Given the description of an element on the screen output the (x, y) to click on. 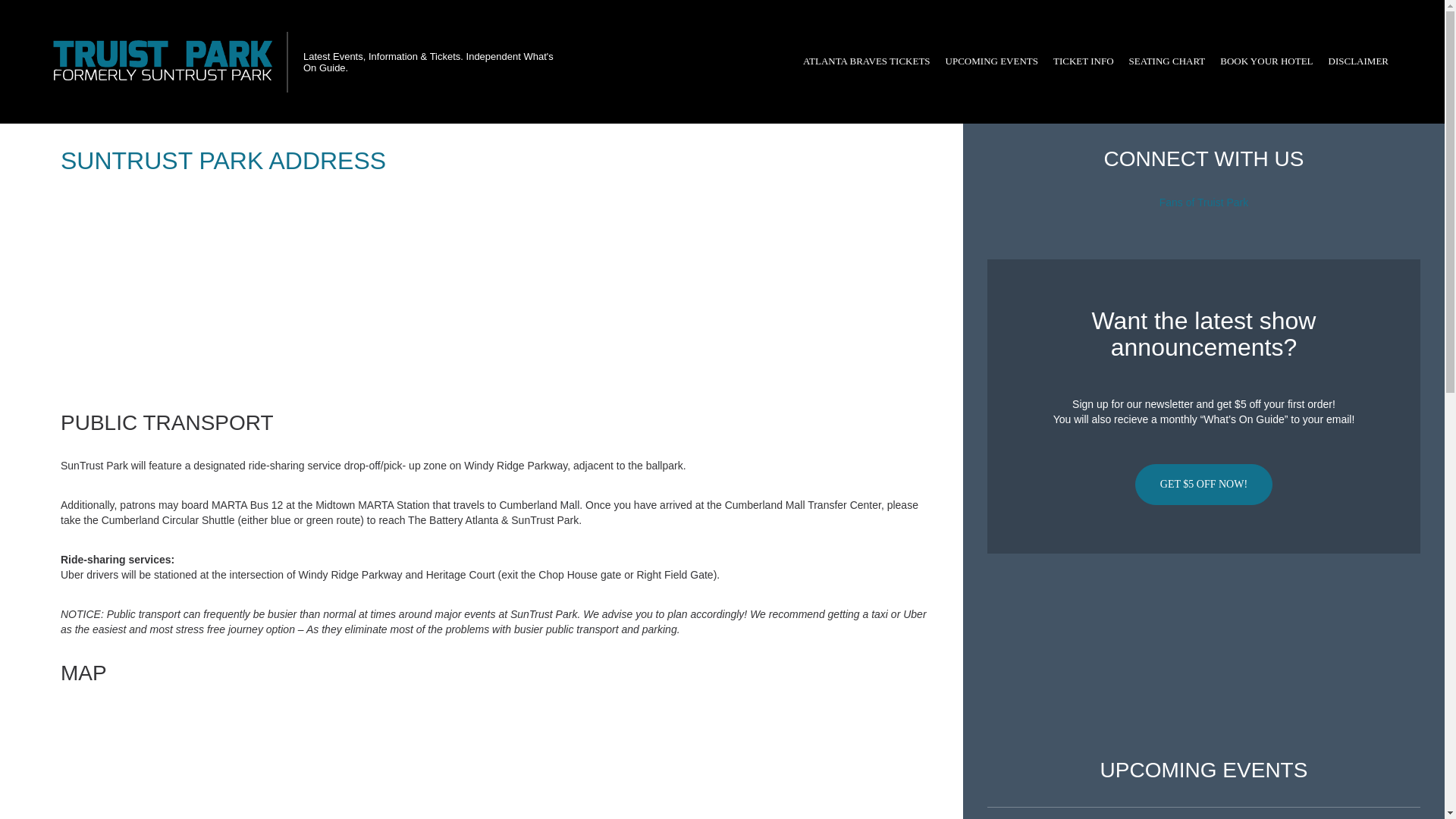
SEATING CHART (1166, 61)
ATLANTA BRAVES TICKETS (865, 61)
Fans of Truist Park (1202, 202)
BOOK YOUR HOTEL (1266, 61)
UPCOMING EVENTS (991, 61)
TICKET INFO (1083, 61)
DISCLAIMER (1358, 61)
